Given the description of an element on the screen output the (x, y) to click on. 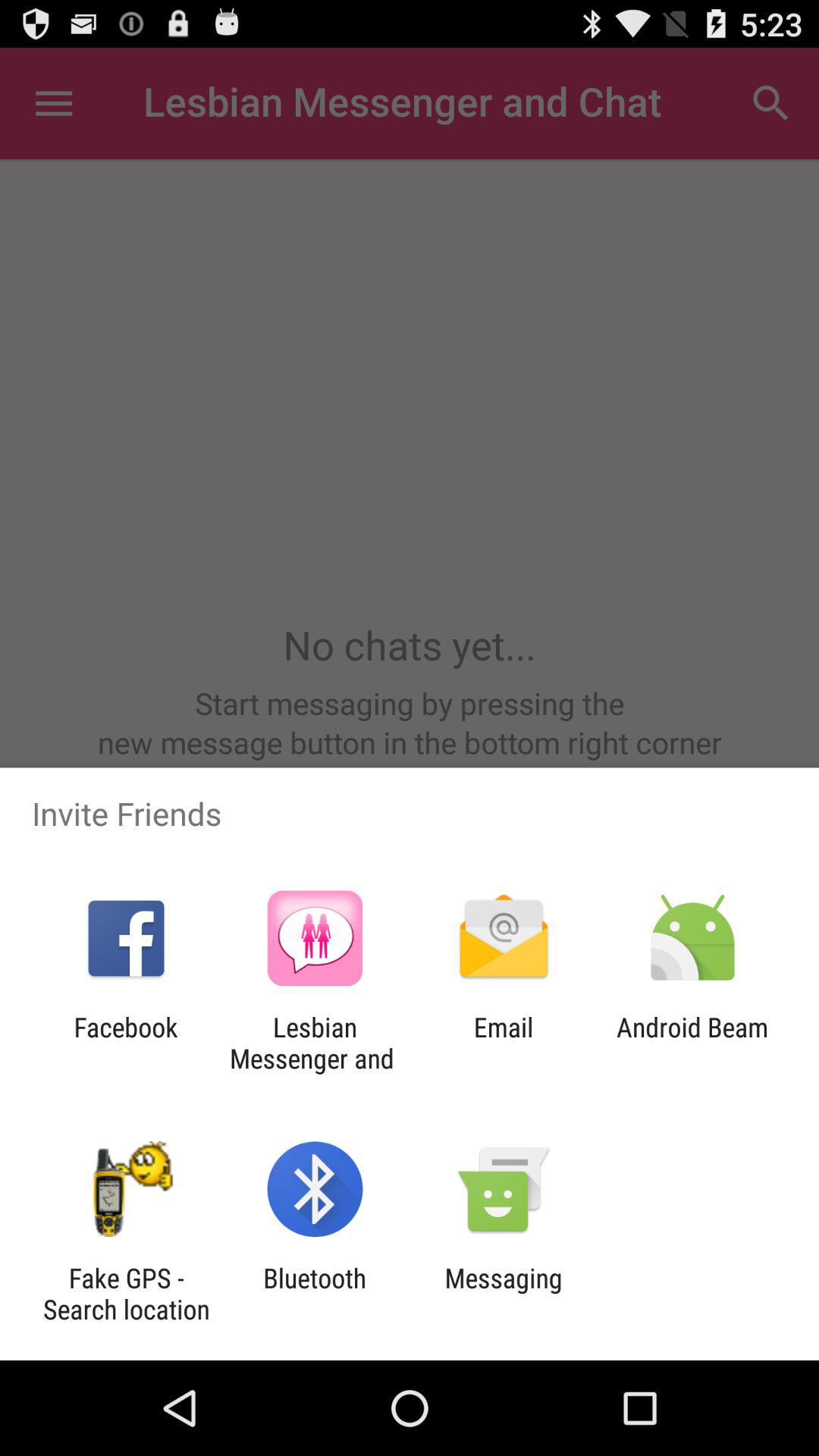
launch item next to the email (314, 1042)
